Given the description of an element on the screen output the (x, y) to click on. 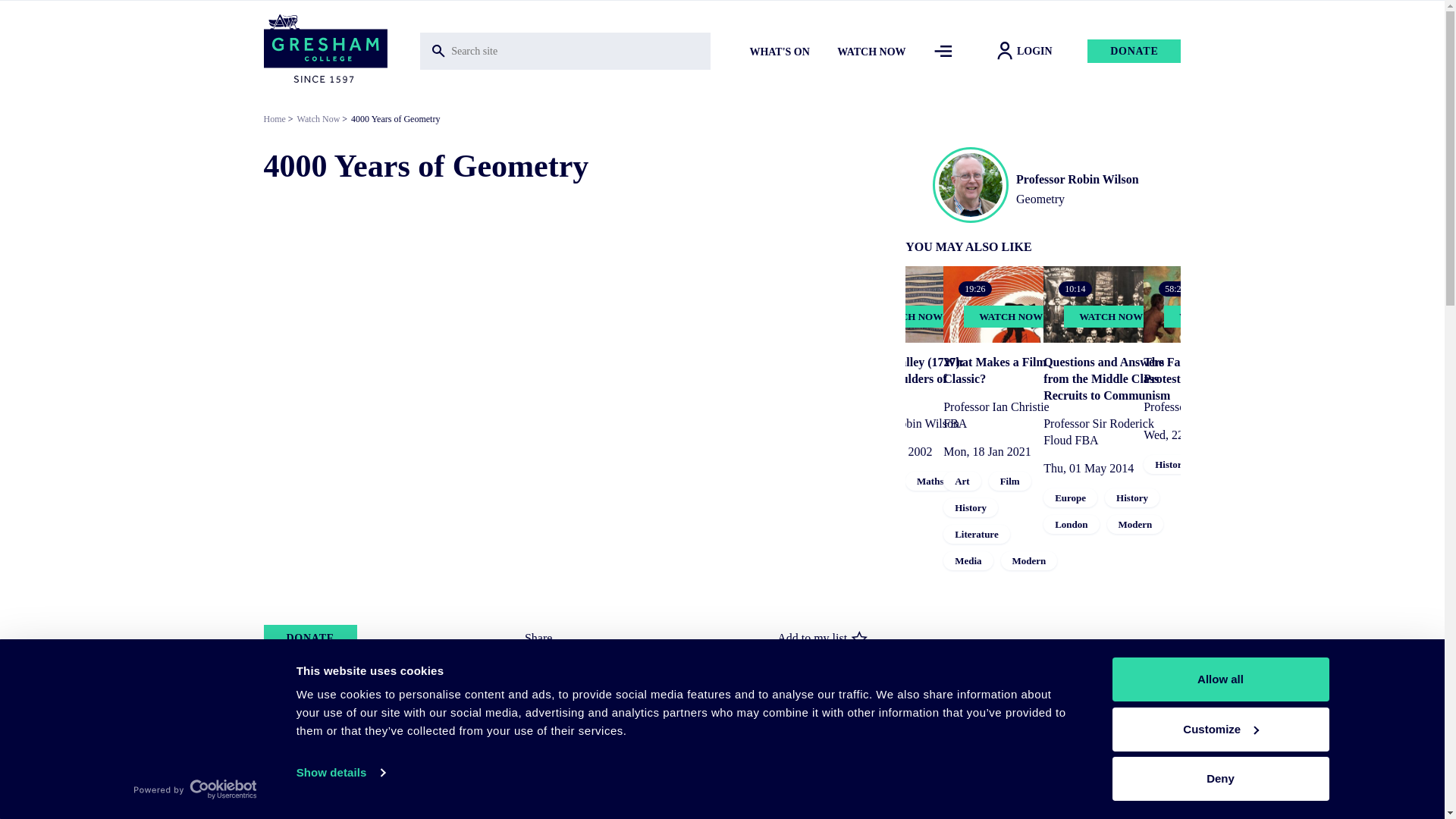
Show details (340, 772)
Deny (1219, 778)
Home (325, 50)
